Given the description of an element on the screen output the (x, y) to click on. 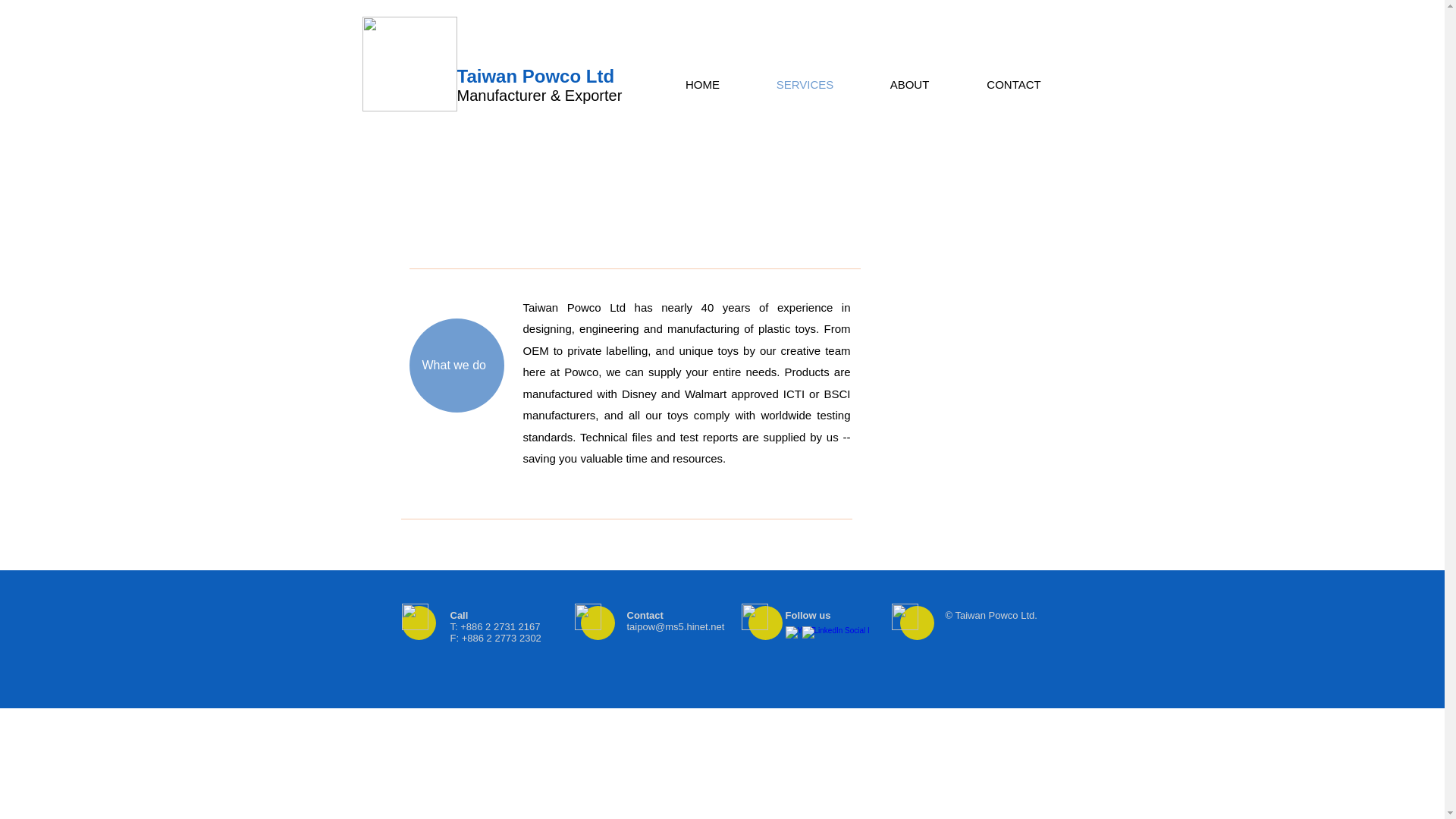
ABOUT (909, 84)
HOME (702, 84)
CONTACT (1014, 84)
SERVICES (805, 84)
POWCO.jpg (409, 63)
